Given the description of an element on the screen output the (x, y) to click on. 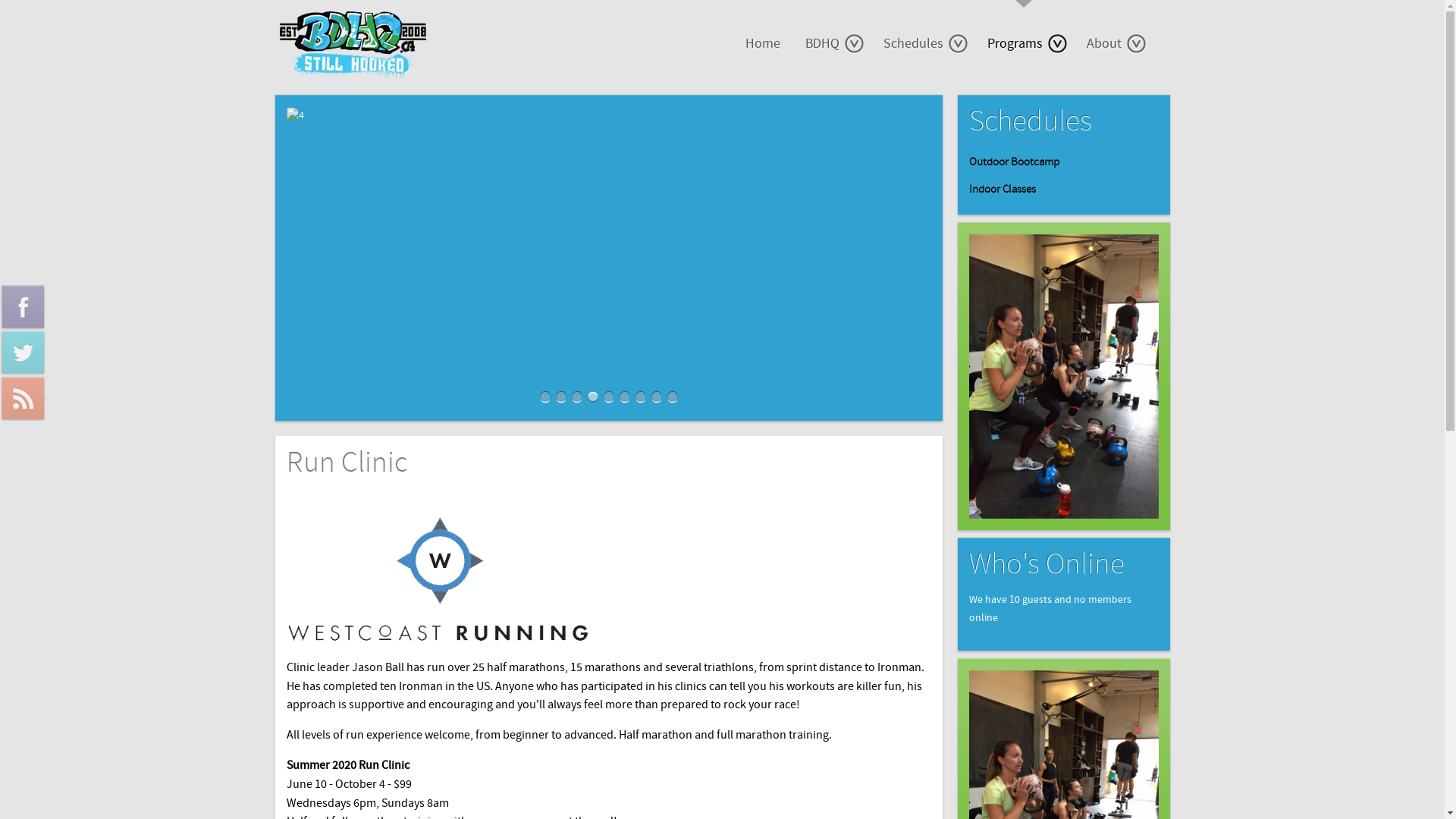
Schedules Element type: text (921, 43)
Home Element type: text (761, 43)
Outdoor Bootcamp Element type: text (1063, 161)
BDHQ Element type: text (831, 43)
About Element type: text (1112, 43)
Indoor Classes Element type: text (1063, 189)
Run Clinic Element type: text (346, 462)
Programs Element type: text (1024, 43)
